Given the description of an element on the screen output the (x, y) to click on. 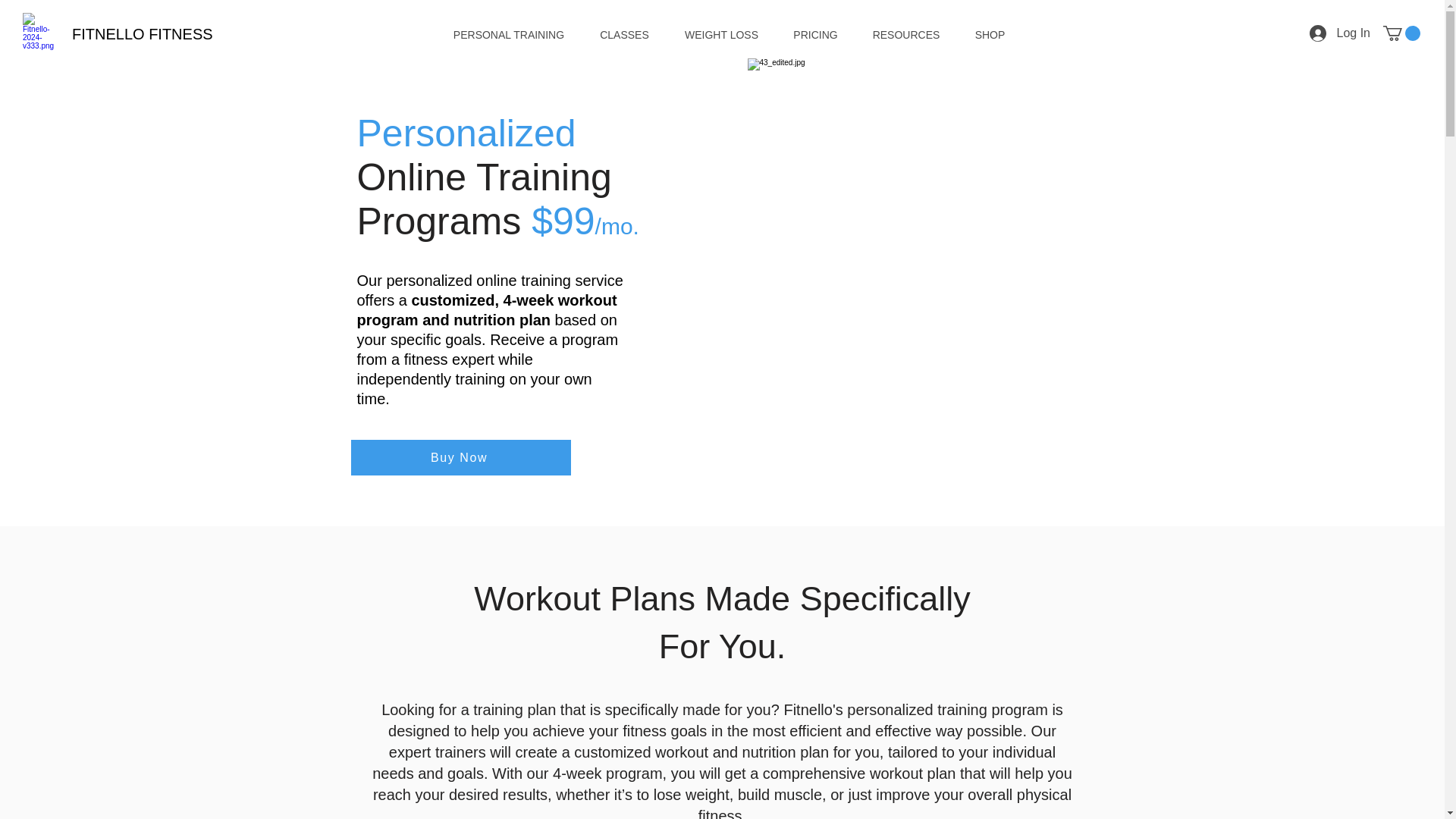
Log In (1339, 32)
Buy Now (460, 457)
CLASSES (624, 34)
SHOP (989, 34)
PERSONAL TRAINING (507, 34)
RESOURCES (907, 34)
FITNELLO FITNESS (141, 34)
PRICING (816, 34)
WEIGHT LOSS (721, 34)
